Given the description of an element on the screen output the (x, y) to click on. 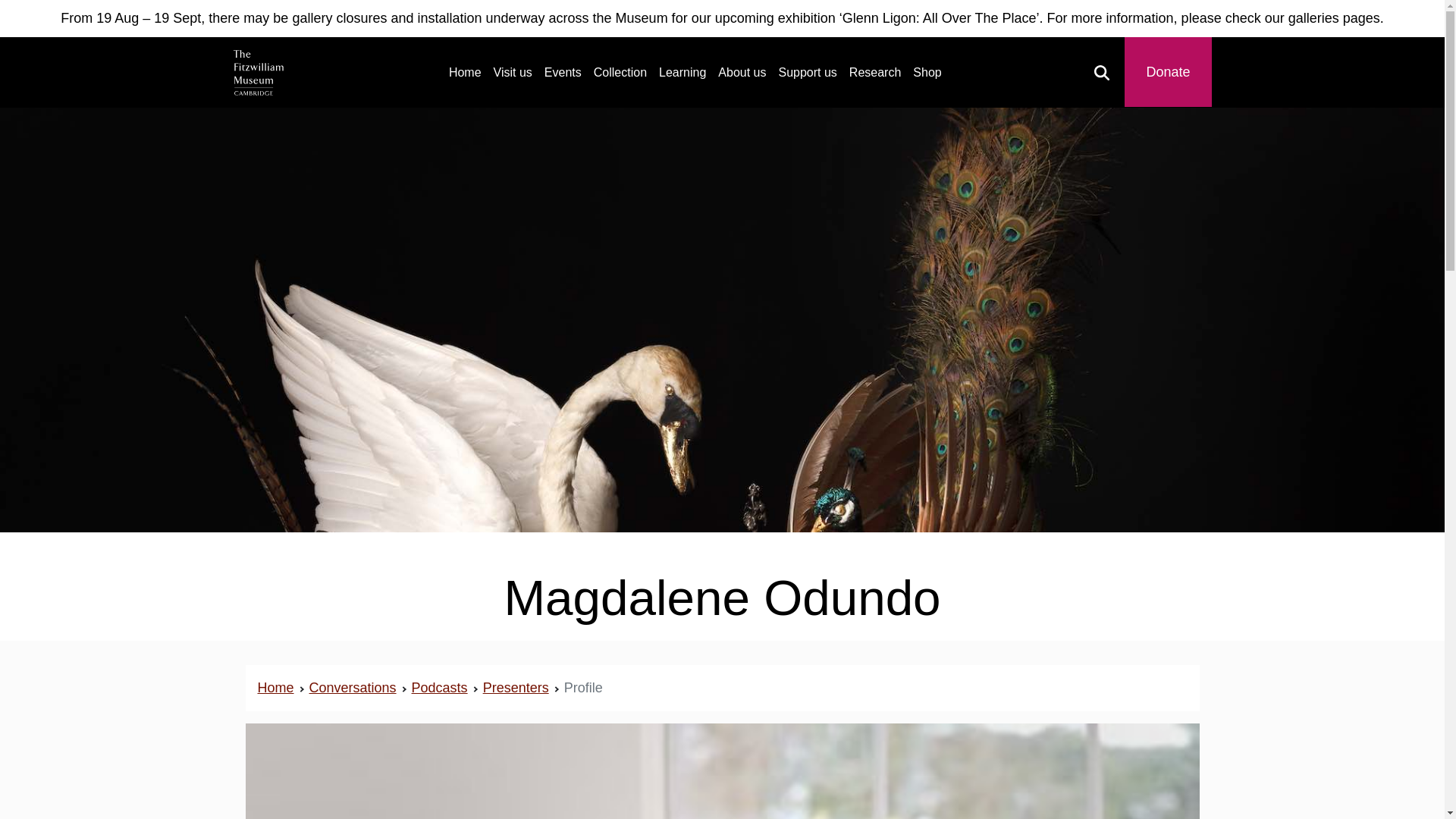
Collection (620, 72)
Support us (807, 72)
Visit us (512, 72)
Donate (1167, 72)
Events (563, 72)
About us (741, 72)
Research (875, 72)
Shop (927, 72)
Podcasts (439, 687)
Presenters (515, 687)
